Given the description of an element on the screen output the (x, y) to click on. 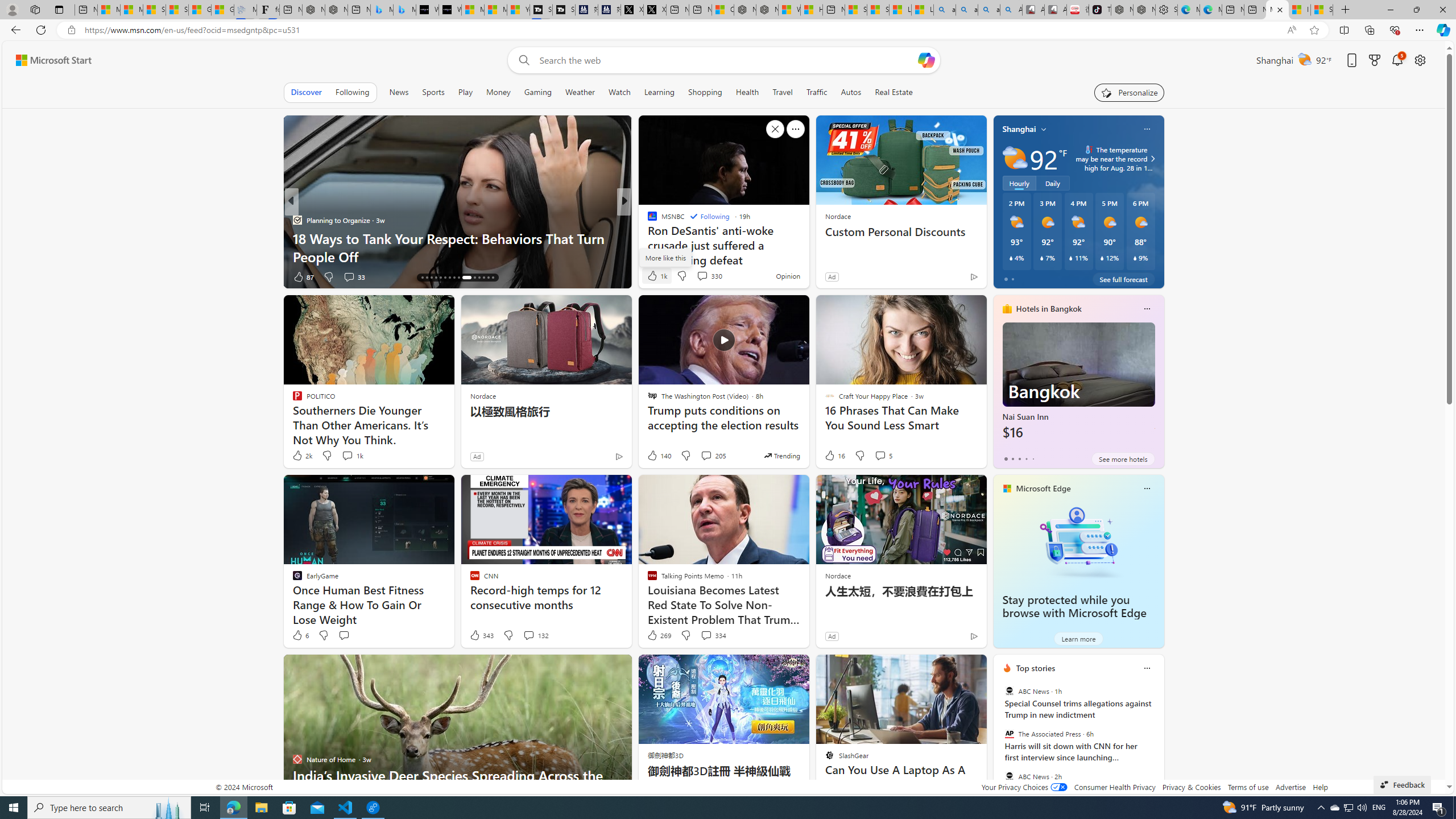
Microsoft Bing Travel - Stays in Bangkok, Bangkok, Thailand (381, 9)
Enter your search term (726, 59)
Partly sunny (1014, 158)
AutomationID: tab-16 (422, 277)
Planning to Organize (296, 219)
AutomationID: tab-19 (435, 277)
